Given the description of an element on the screen output the (x, y) to click on. 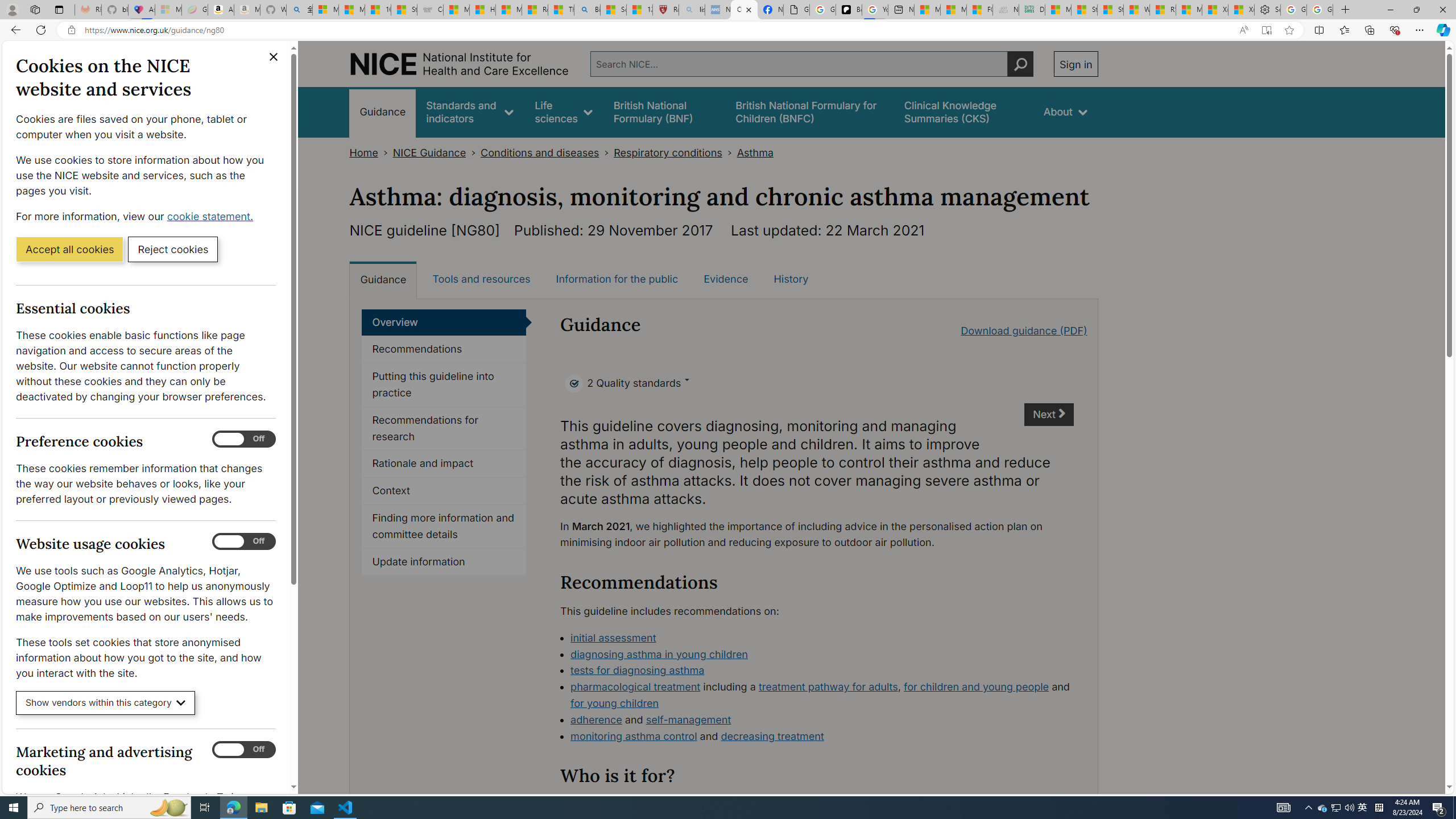
Life sciences (563, 111)
FOX News - MSN (979, 9)
Context (443, 491)
Website usage cookies (243, 540)
monitoring asthma control and decreasing treatment (822, 736)
Tools and resources (481, 279)
Guidance (383, 279)
Evidence (725, 279)
Navy Quest (1005, 9)
Update information (443, 561)
